Given the description of an element on the screen output the (x, y) to click on. 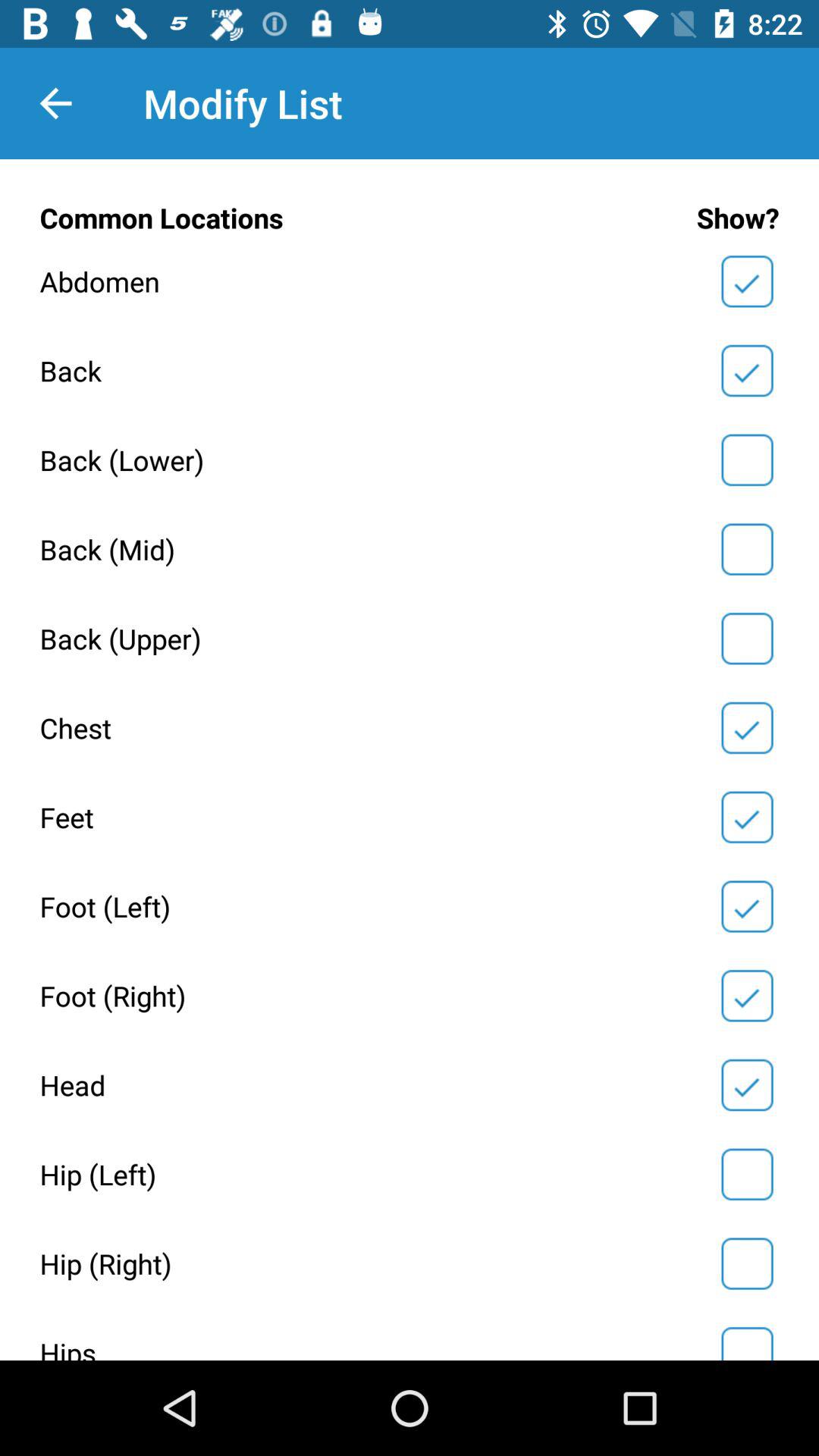
click head (747, 1085)
